Given the description of an element on the screen output the (x, y) to click on. 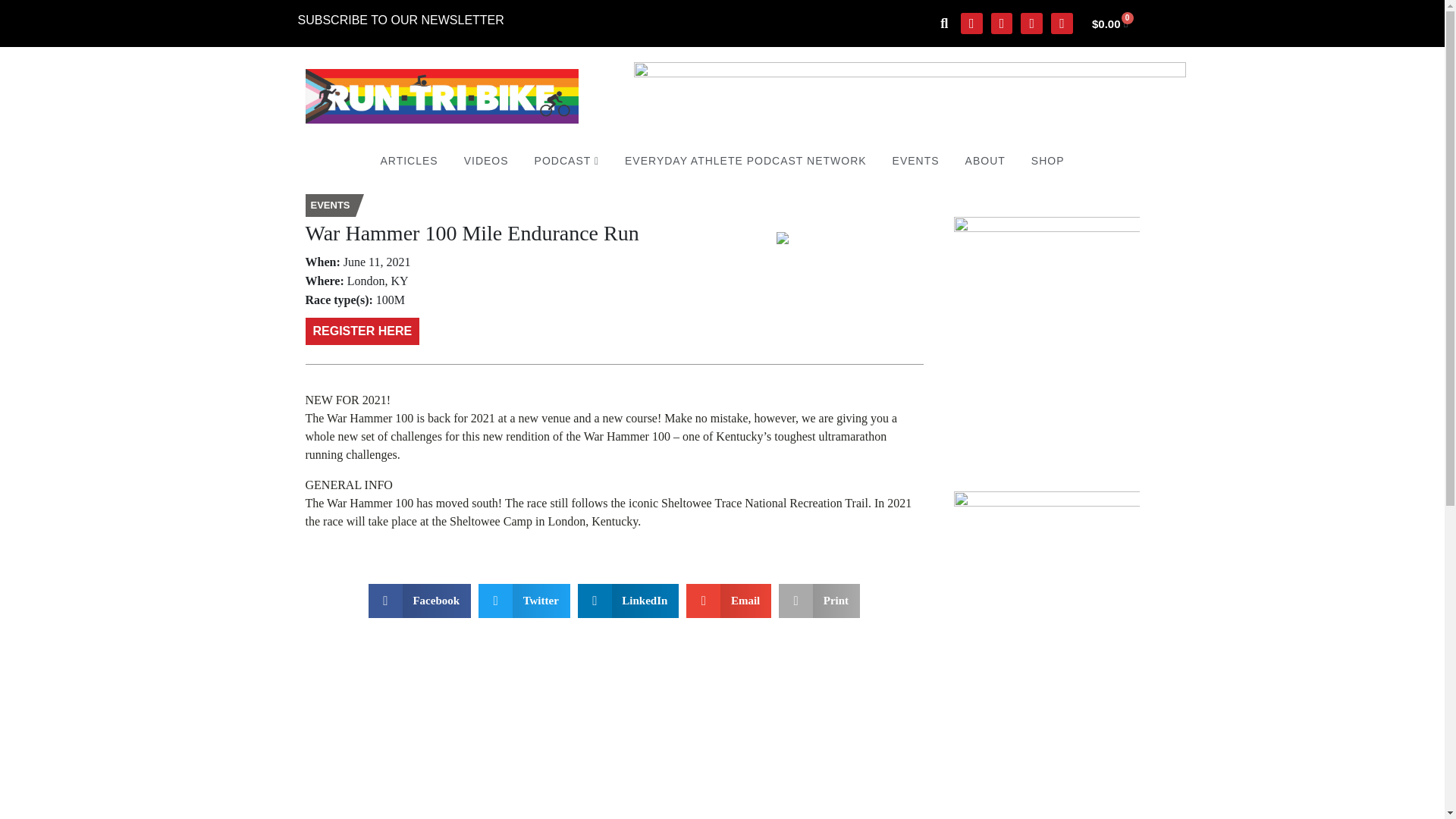
SUBSCRIBE TO OUR NEWSLETTER (400, 19)
ARTICLES (407, 160)
EVERYDAY ATHLETE PODCAST NETWORK (745, 160)
VIDEOS (486, 160)
